Given the description of an element on the screen output the (x, y) to click on. 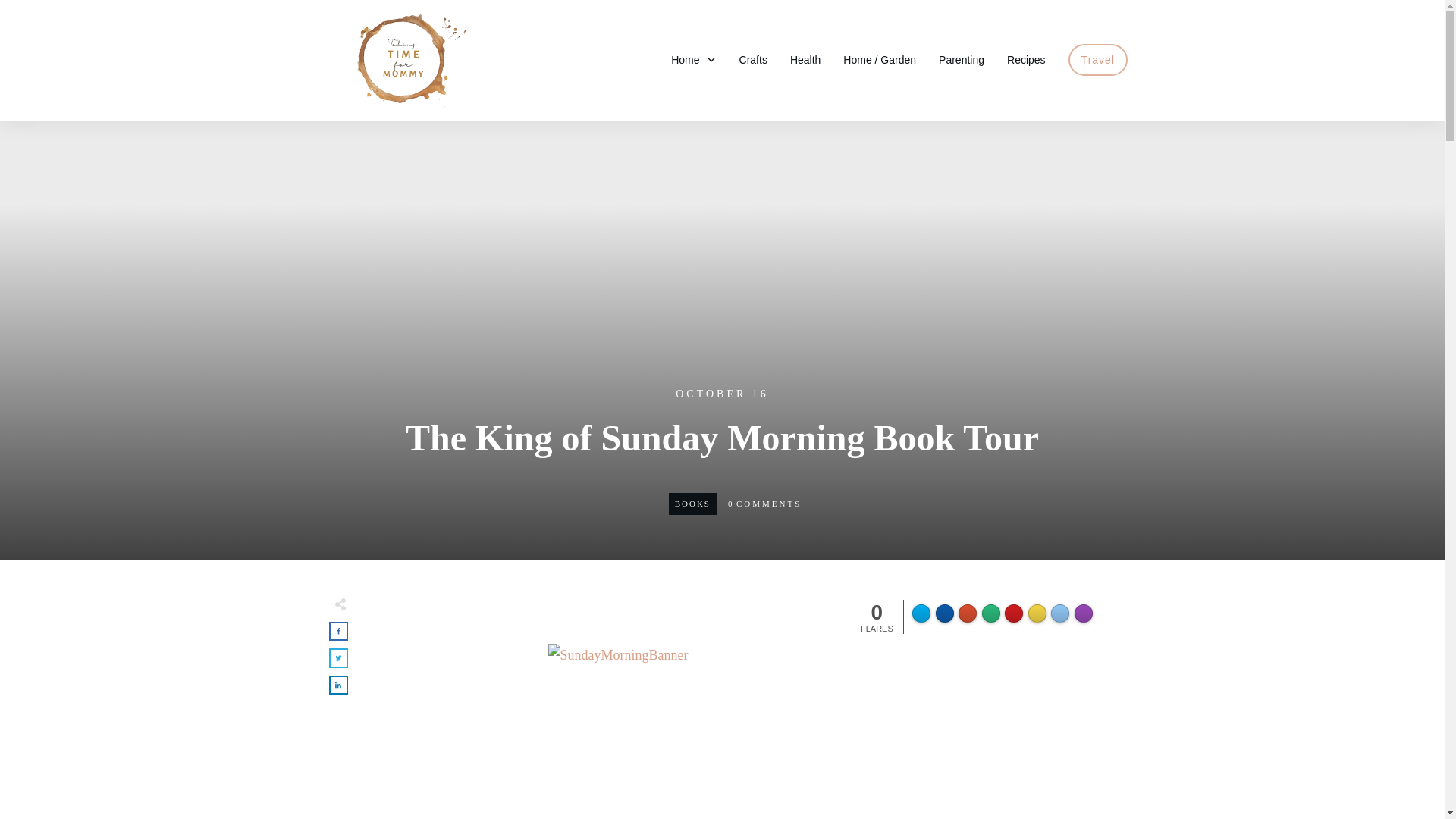
Crafts (753, 59)
Parenting (961, 59)
BOOKS (692, 502)
Recipes (1026, 59)
Home (693, 59)
Books (692, 502)
Health (805, 59)
Travel (1098, 59)
